Given the description of an element on the screen output the (x, y) to click on. 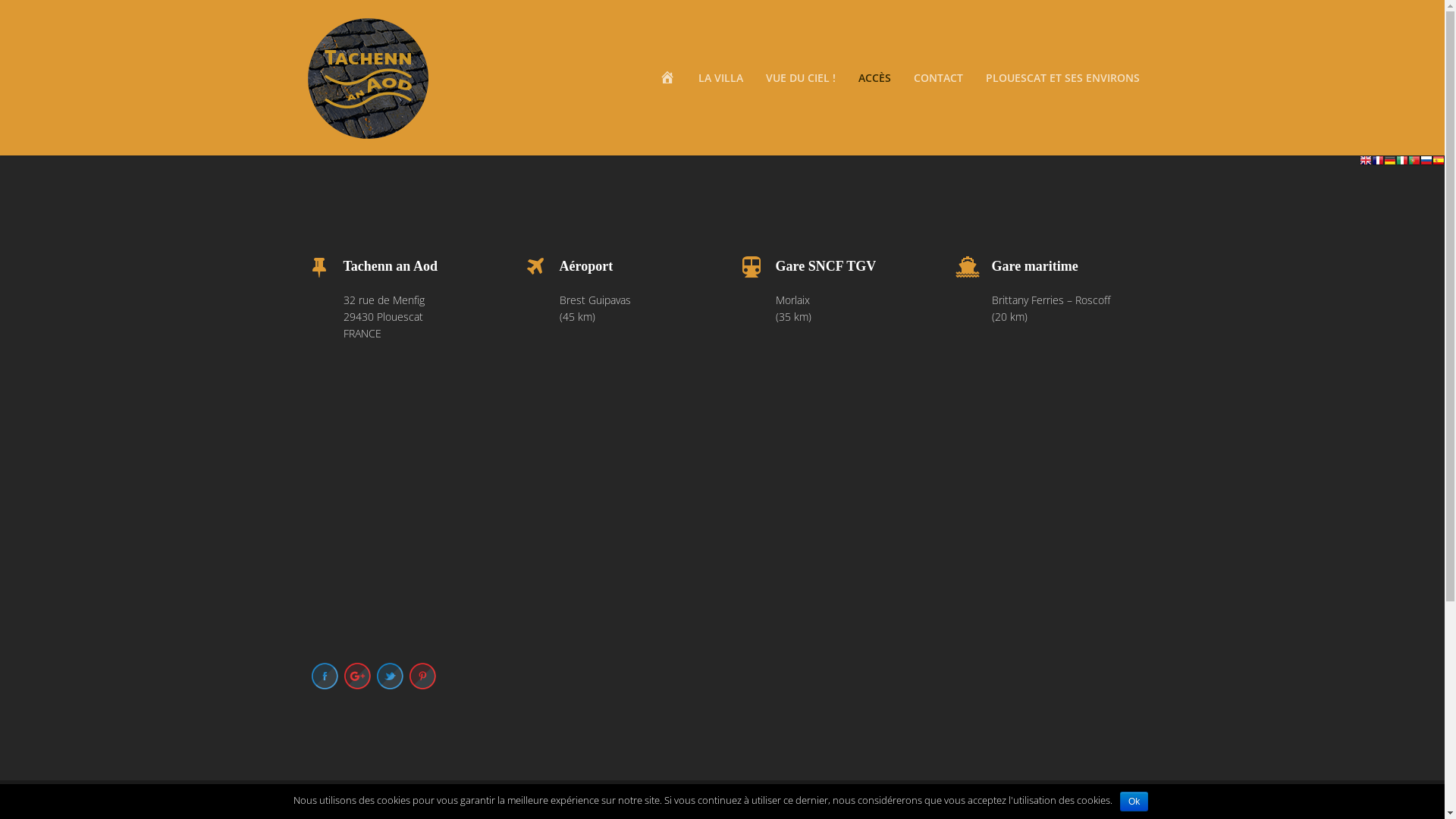
German Element type: hover (1389, 163)
Twitter Element type: hover (389, 675)
Google+ Element type: hover (357, 675)
Spanish Element type: hover (1438, 163)
Russian Element type: hover (1426, 163)
Pinterest Element type: hover (422, 675)
English Element type: hover (1365, 163)
ACCUEIL Element type: text (667, 77)
Portuguese Element type: hover (1414, 163)
CONTACT Element type: text (937, 77)
Facebook Element type: hover (323, 675)
Ok Element type: text (1134, 801)
VUE DU CIEL ! Element type: text (800, 77)
PLOUESCAT ET SES ENVIRONS Element type: text (1062, 77)
Italian Element type: hover (1402, 163)
LA VILLA Element type: text (719, 77)
French Element type: hover (1377, 163)
